Given the description of an element on the screen output the (x, y) to click on. 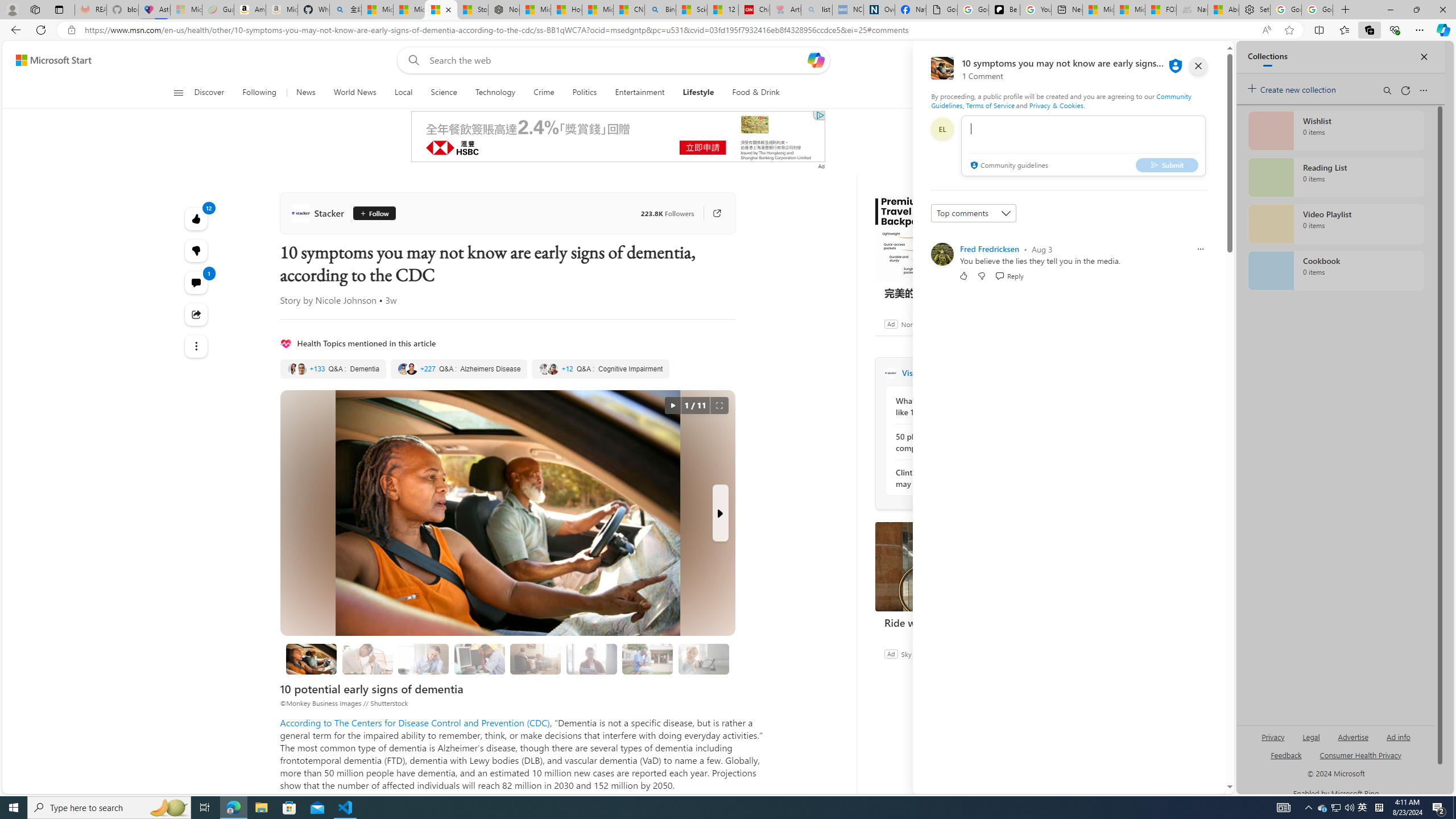
New problems with words in speaking or writing (646, 658)
Entertainment (639, 92)
Community Guidelines (1060, 100)
Confusion with time or place (534, 659)
Visit Stacker website (1031, 372)
Ad (890, 653)
Enter your search term (617, 59)
Profile Picture (941, 254)
Reply Reply Comment (1008, 275)
Ad Choice (1032, 653)
Be Smart | creating Science videos | Patreon (1004, 9)
Submit (1166, 164)
Lifestyle (697, 92)
